Given the description of an element on the screen output the (x, y) to click on. 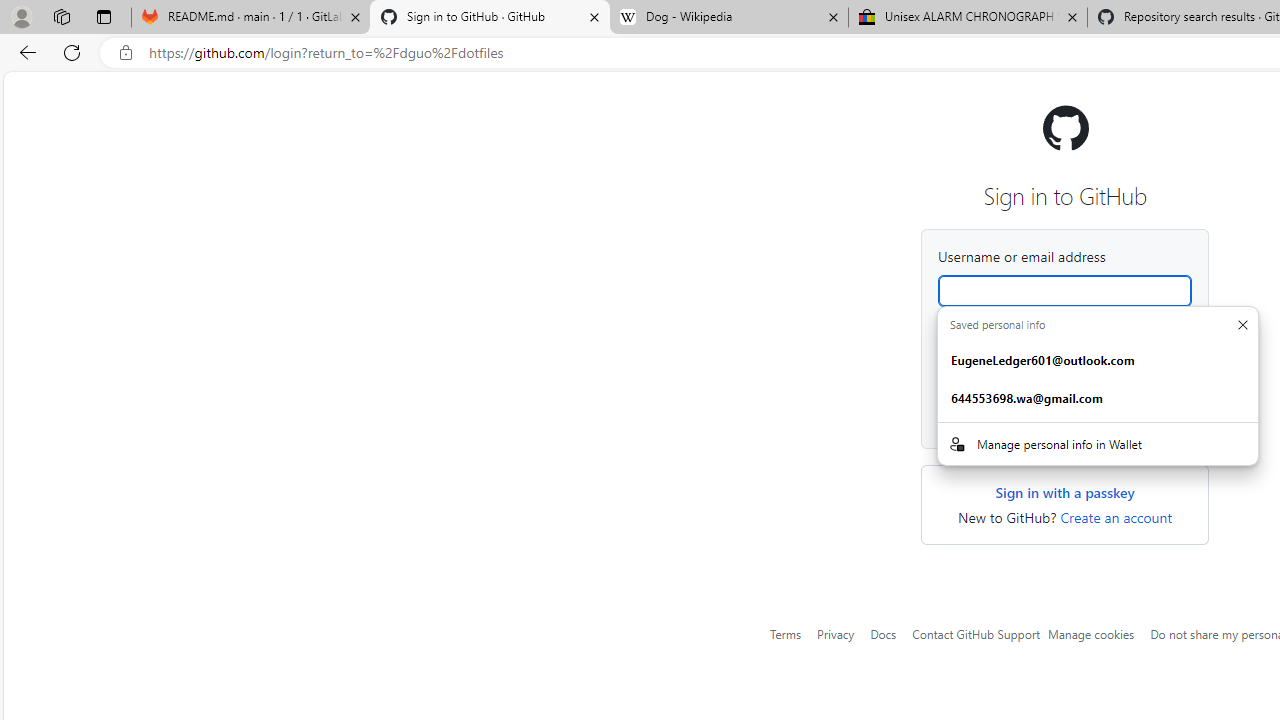
Forgot password? (1143, 332)
EugeneLedger601@outlook.com. :Basic info suggestion. (1098, 361)
Don't show saved information (1242, 324)
Workspaces (61, 16)
Terms (786, 633)
Username or email address (1064, 290)
Password (1064, 367)
Contact GitHub Support (975, 633)
Contact GitHub Support (975, 633)
Dog - Wikipedia (729, 17)
Terms (786, 633)
